Given the description of an element on the screen output the (x, y) to click on. 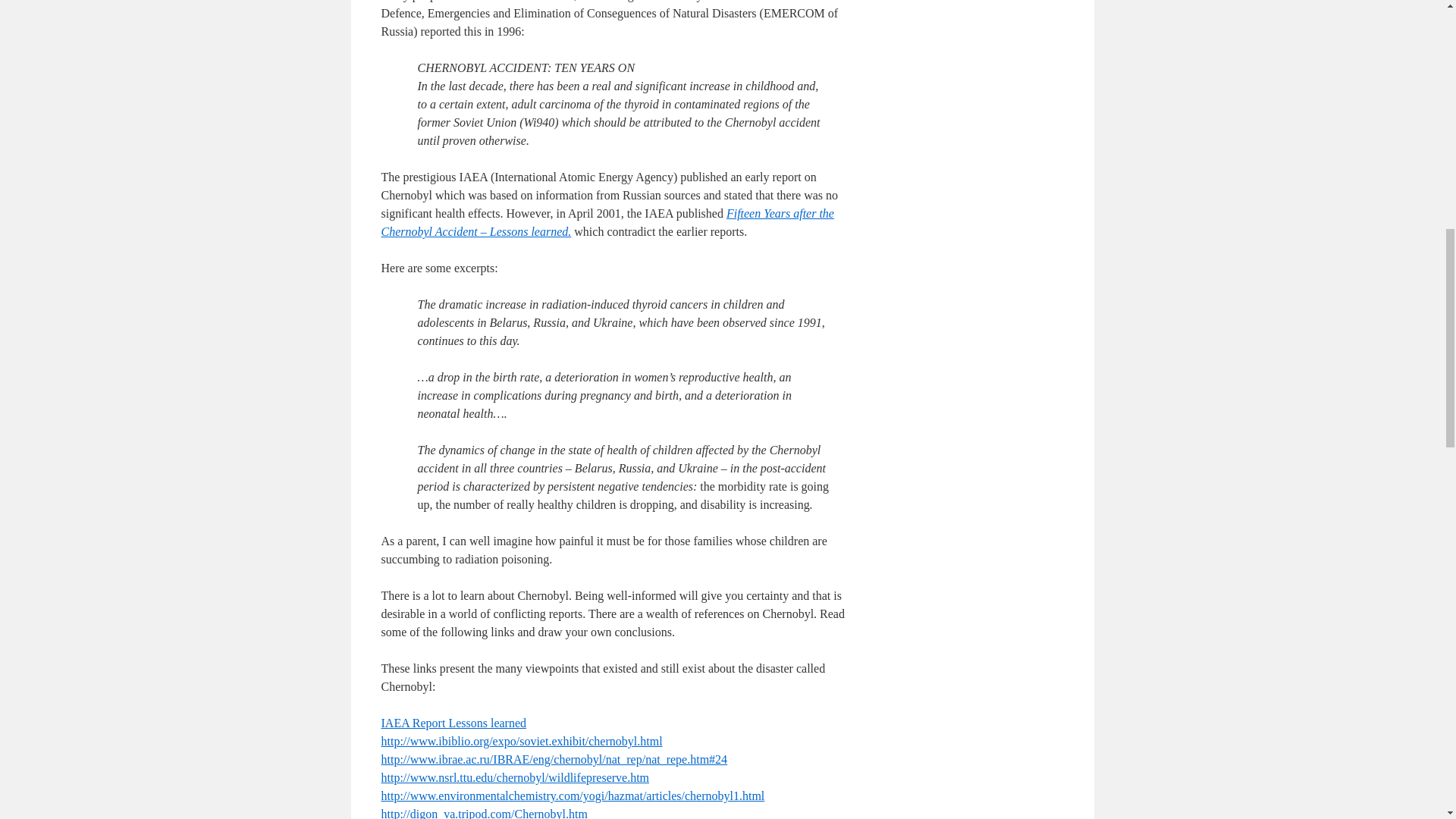
IAEA Report Lessons learned (452, 722)
